Given the description of an element on the screen output the (x, y) to click on. 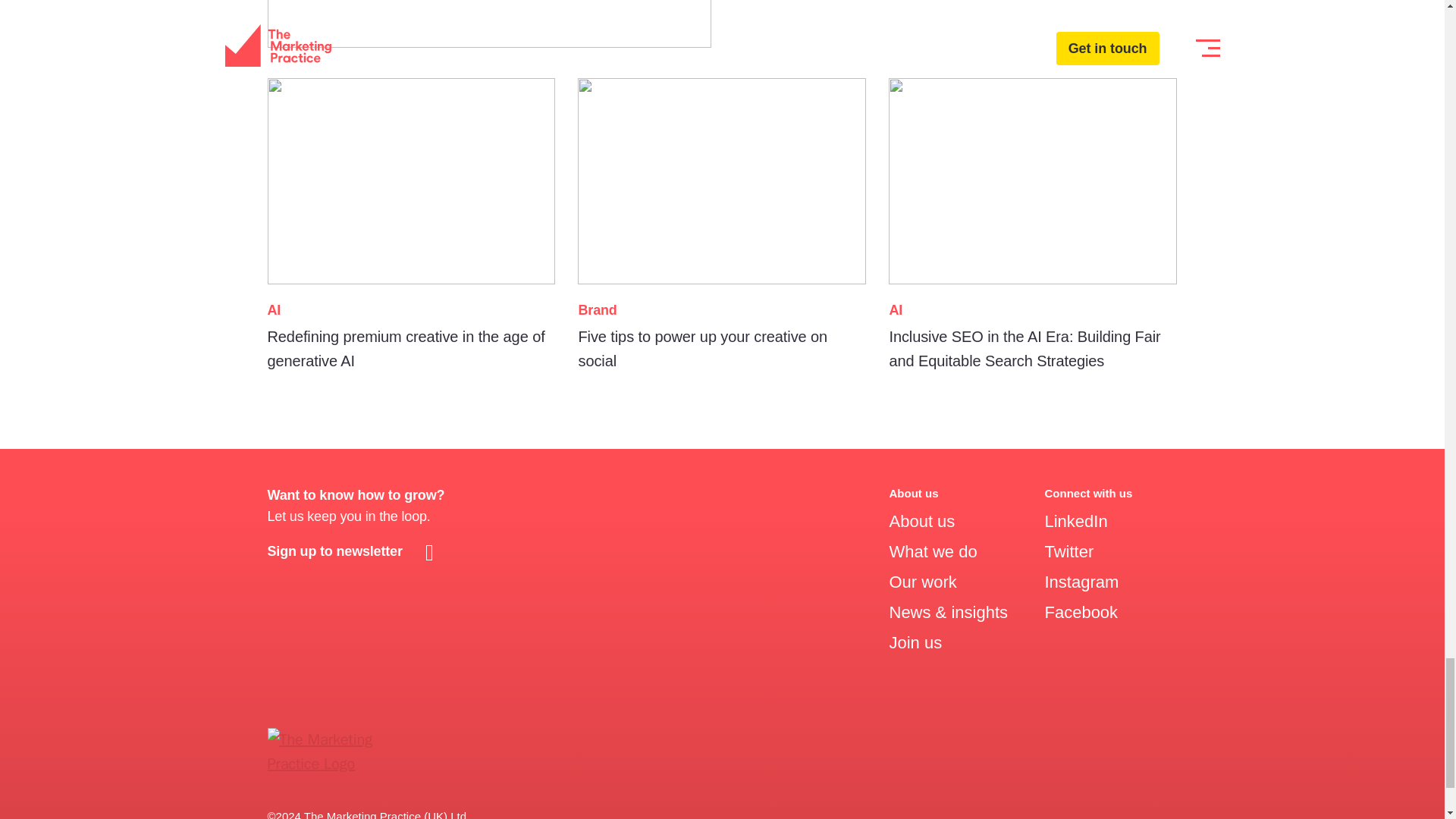
Sign up to newsletter (352, 550)
Twitter (1068, 551)
What we do (932, 551)
Facebook (1080, 611)
Join us (915, 642)
LinkedIn (1074, 520)
